Given the description of an element on the screen output the (x, y) to click on. 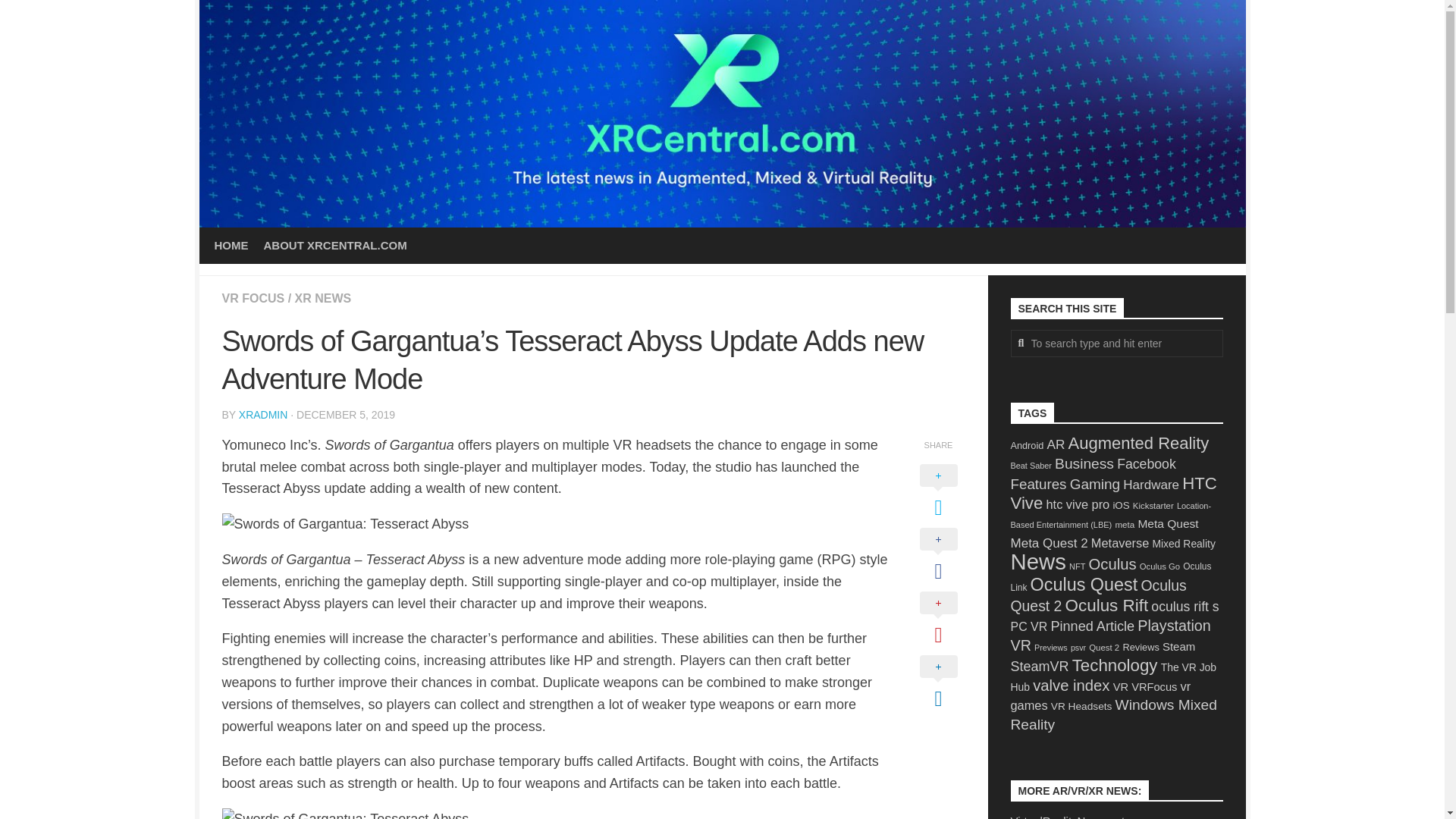
Android (1026, 445)
To search type and hit enter (1116, 343)
XR NEWS (323, 297)
Augmented Reality (1138, 443)
HOME (230, 245)
XRADMIN (263, 414)
Beat Saber (1030, 465)
Business (1083, 463)
Posts by xradmin (263, 414)
VR FOCUS (252, 297)
Facebook (1146, 463)
AR (1055, 444)
To search type and hit enter (1116, 343)
ABOUT XRCENTRAL.COM (335, 245)
